Given the description of an element on the screen output the (x, y) to click on. 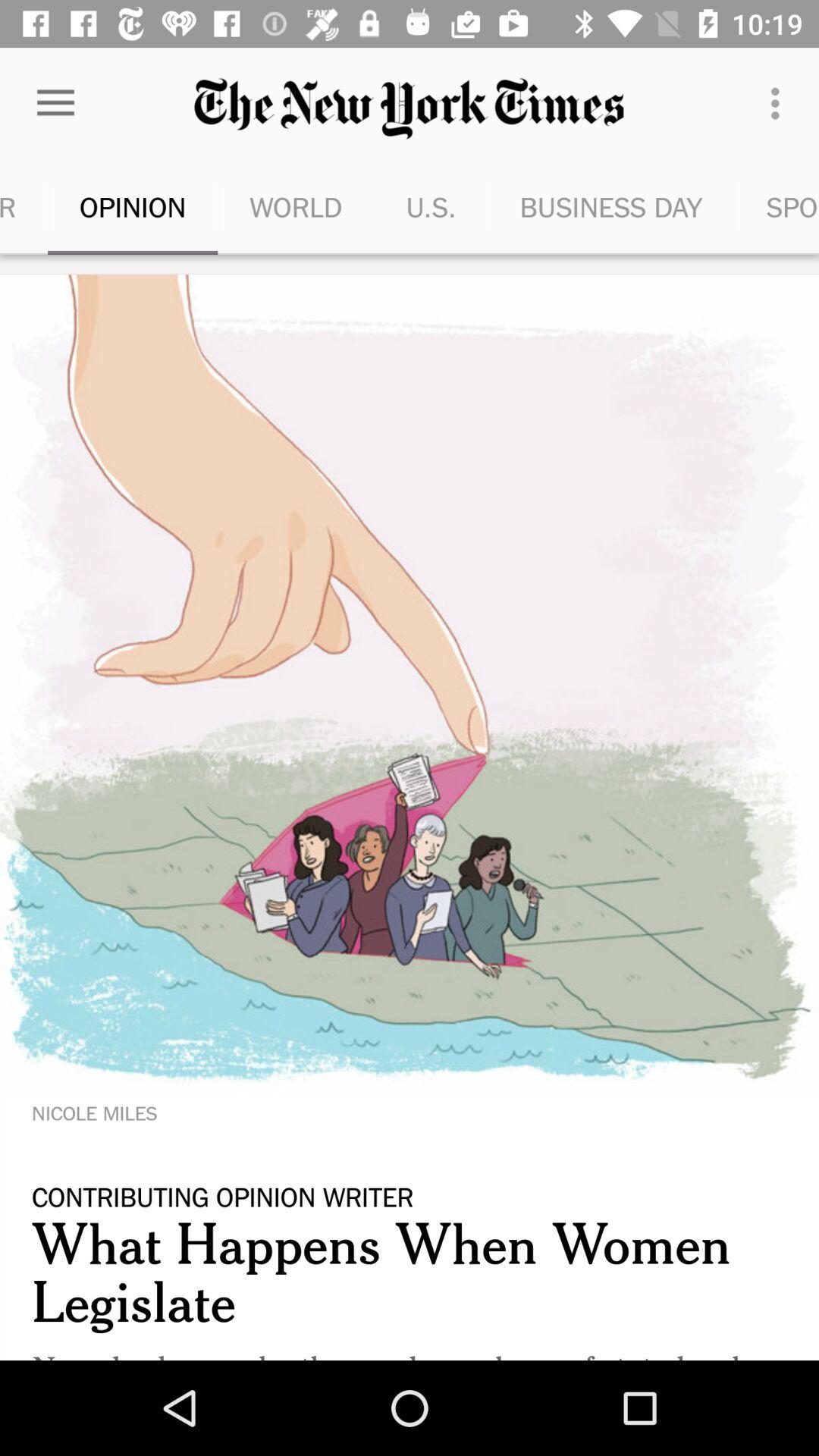
click item next to u.s. icon (610, 206)
